Given the description of an element on the screen output the (x, y) to click on. 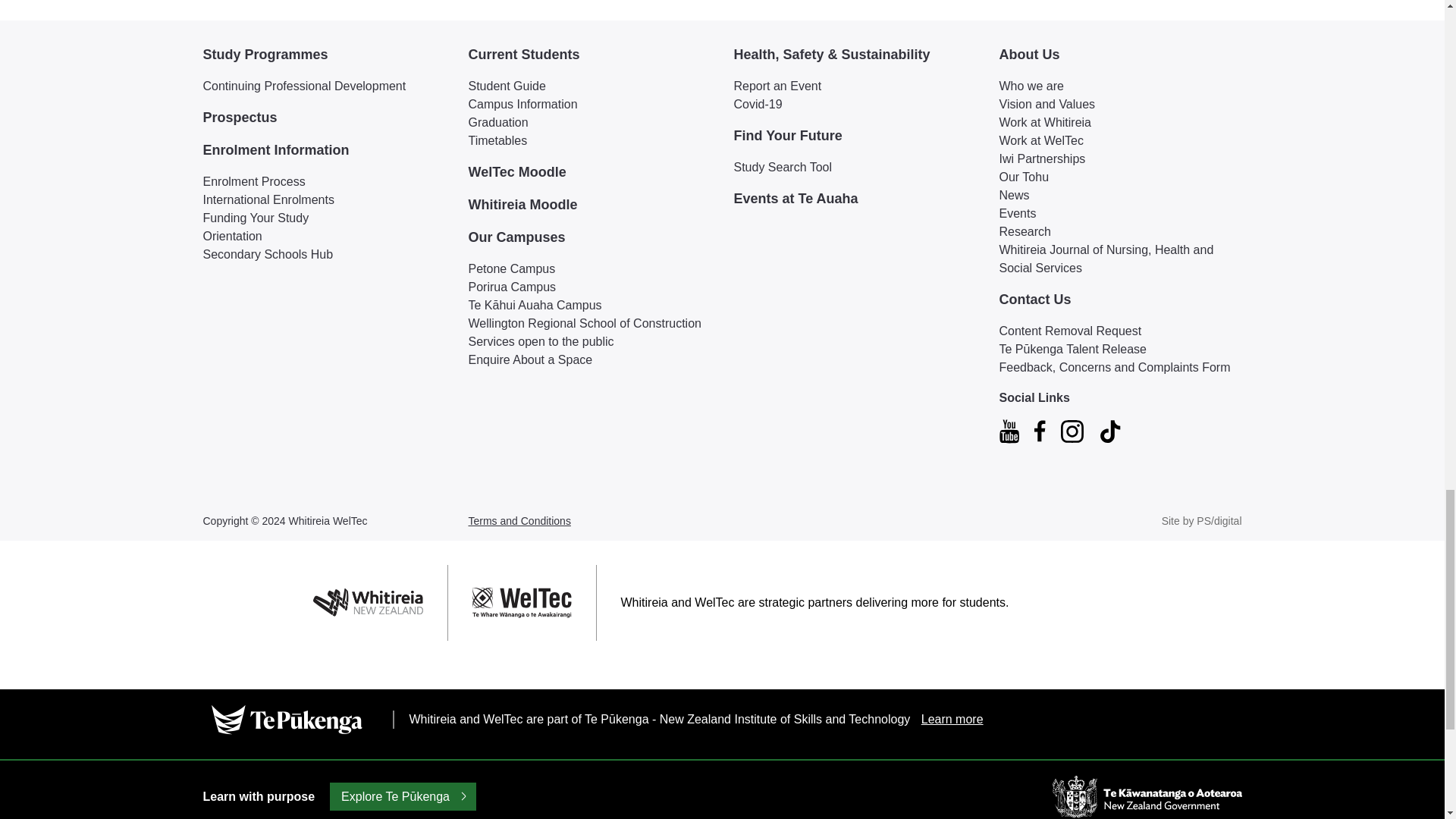
Current Students (589, 55)
Funding Your Study (324, 218)
Enrolment Information (324, 150)
Continuing Professional Development (324, 85)
Secondary Schools Hub (324, 254)
Orientation (324, 236)
Prospectus (324, 117)
Enrolment Process (324, 181)
Study Programmes (324, 55)
International Enrolments (324, 199)
Student Guide (589, 85)
